Given the description of an element on the screen output the (x, y) to click on. 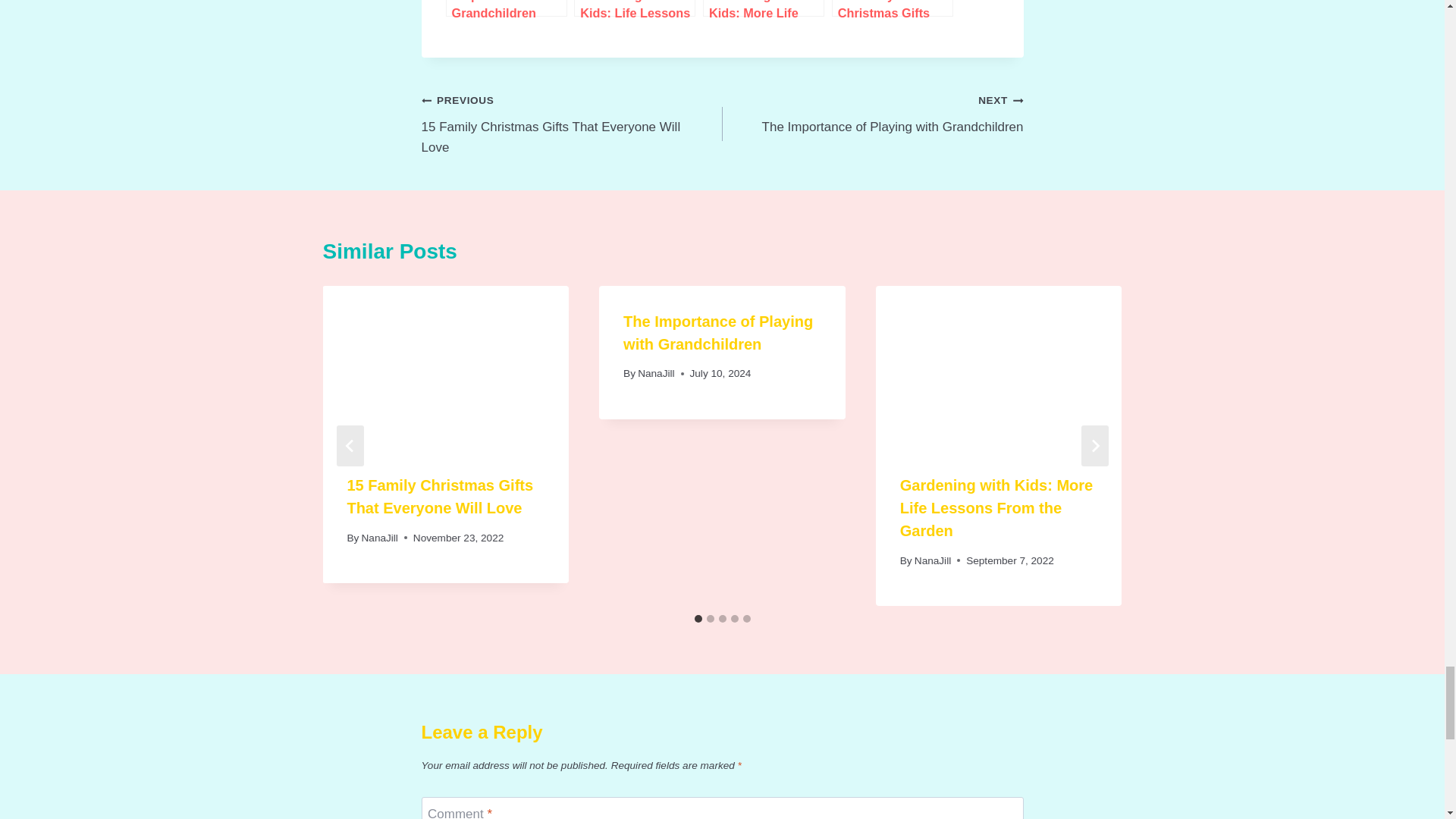
Gardening with Kids: More Life Lessons From the Garden (763, 8)
Gardening with Kids: More Life Lessons From the Garden (763, 8)
Help! Do Grandchildren Lose Interest in Their Grandparents? (506, 8)
15 Family Christmas Gifts That Everyone Will Love (872, 113)
Gardening with Kids: Life Lessons from the Garden (572, 123)
Help! Do Grandchildren Lose Interest in Their Grandparents? (892, 8)
Gardening with Kids: Life Lessons from the Garden (634, 8)
15 Family Christmas Gifts That Everyone Will Love (506, 8)
